Given the description of an element on the screen output the (x, y) to click on. 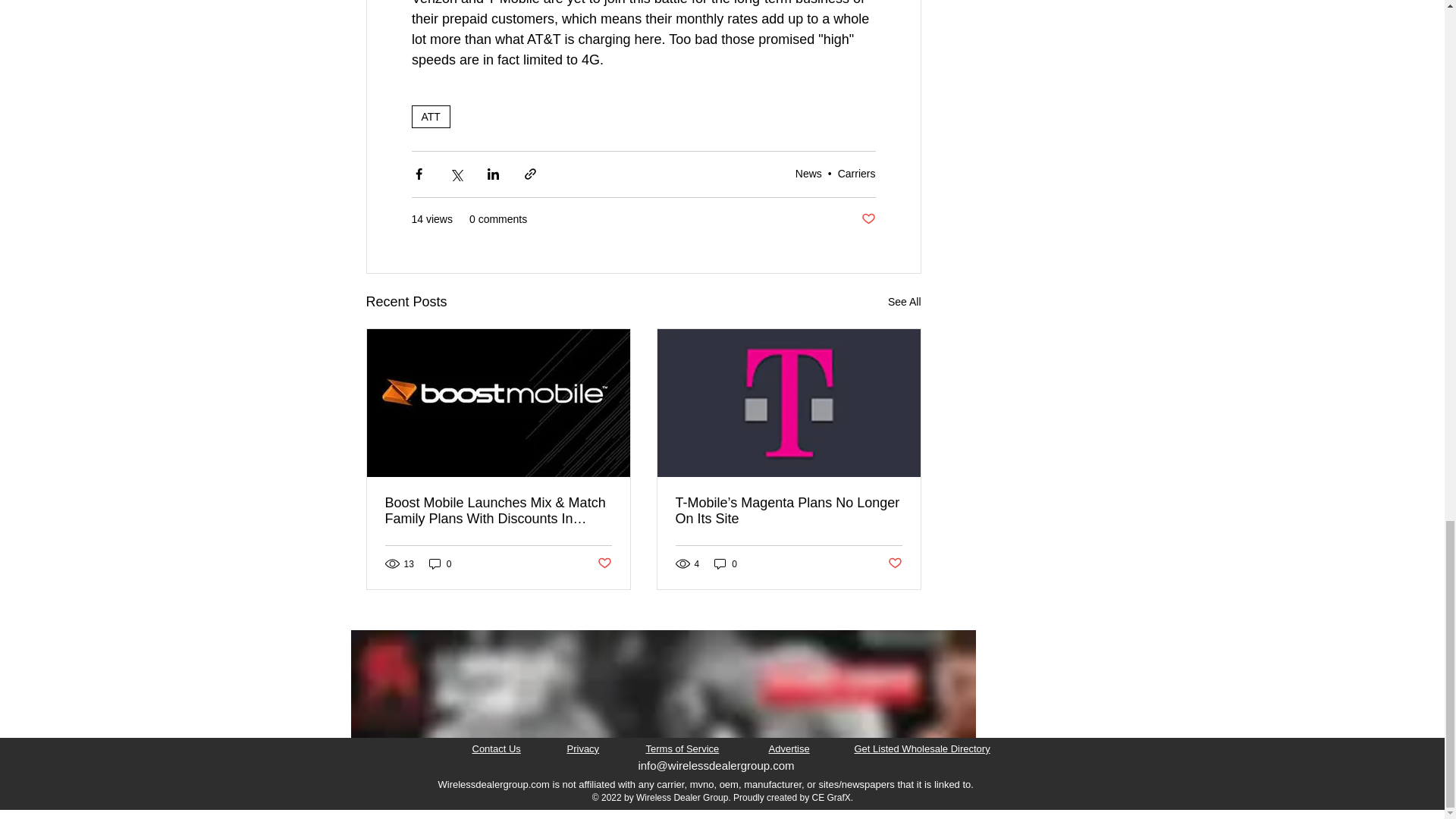
0 (440, 563)
News (808, 173)
0 (725, 563)
Post not marked as liked (603, 563)
See All (904, 301)
Post not marked as liked (893, 563)
Carriers (857, 173)
ATT (429, 116)
Post not marked as liked (868, 219)
